Given the description of an element on the screen output the (x, y) to click on. 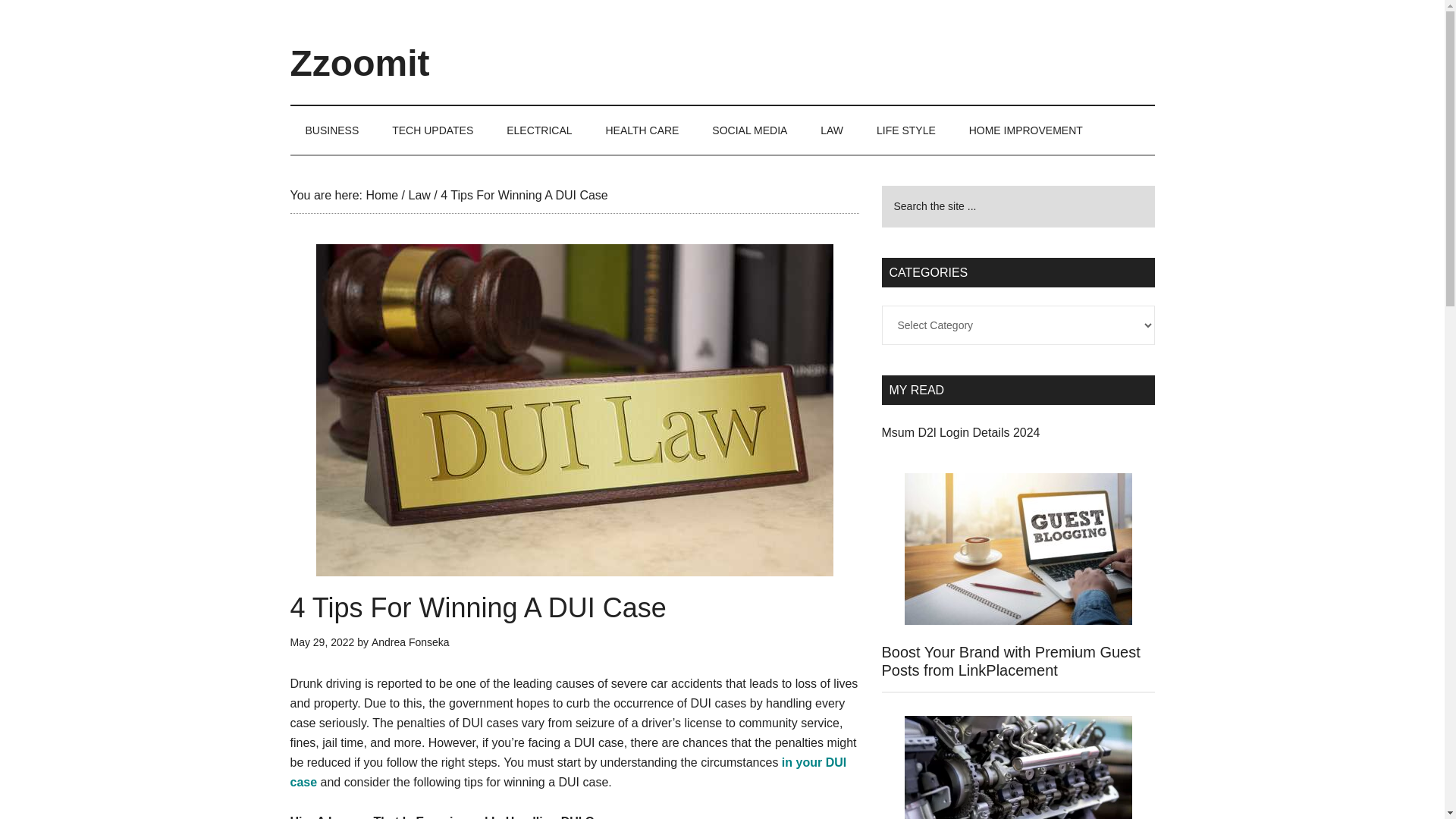
BUSINESS (331, 130)
Law (418, 195)
HEALTH CARE (641, 130)
HOME IMPROVEMENT (1025, 130)
LIFE STYLE (905, 130)
Home (381, 195)
ELECTRICAL (539, 130)
SOCIAL MEDIA (749, 130)
in your DUI case (567, 771)
LAW (832, 130)
TECH UPDATES (432, 130)
Zzoomit (359, 63)
Boost Your Brand with Premium Guest Posts from LinkPlacement (1010, 660)
